Given the description of an element on the screen output the (x, y) to click on. 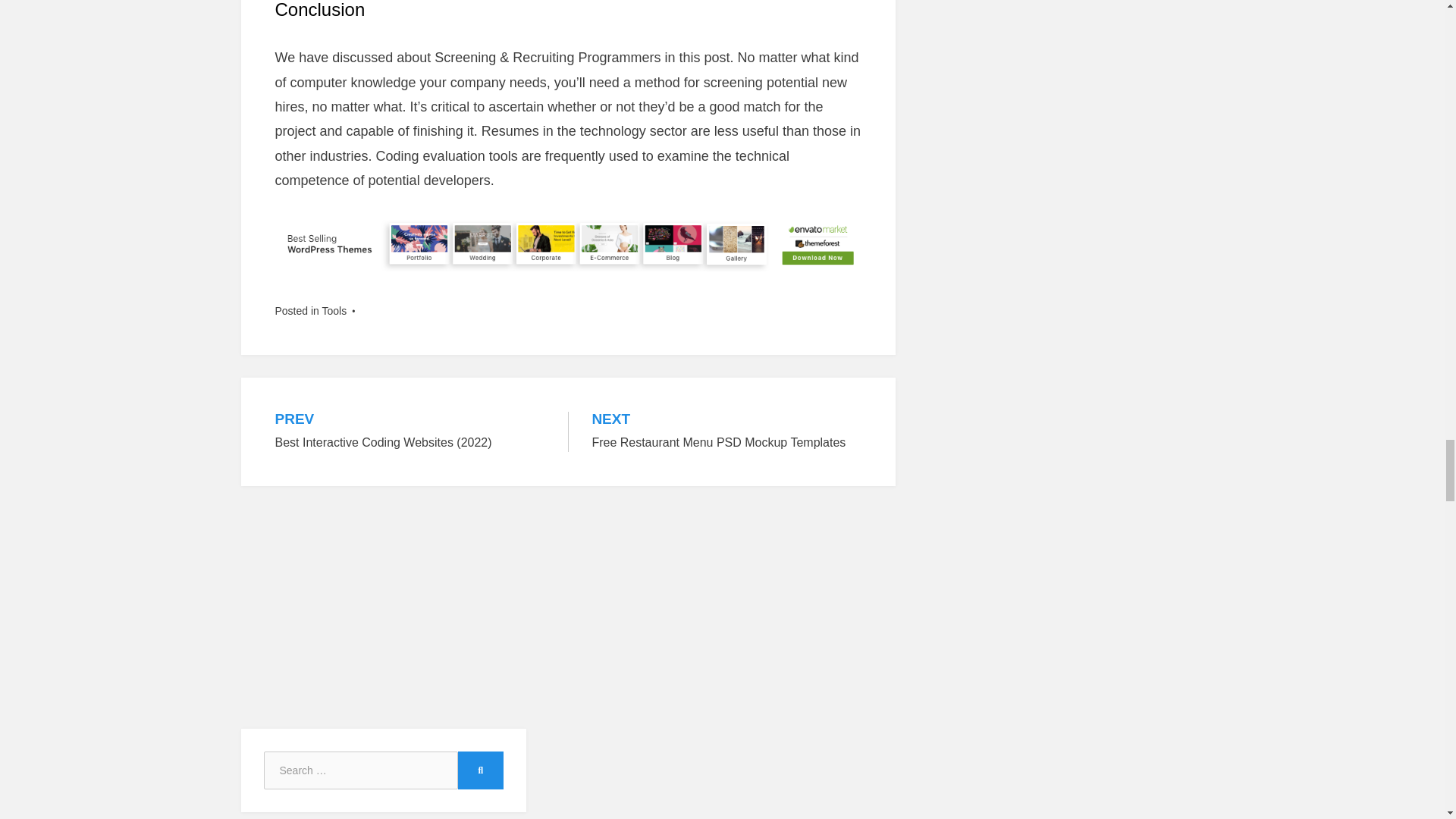
Search for: (360, 770)
